Given the description of an element on the screen output the (x, y) to click on. 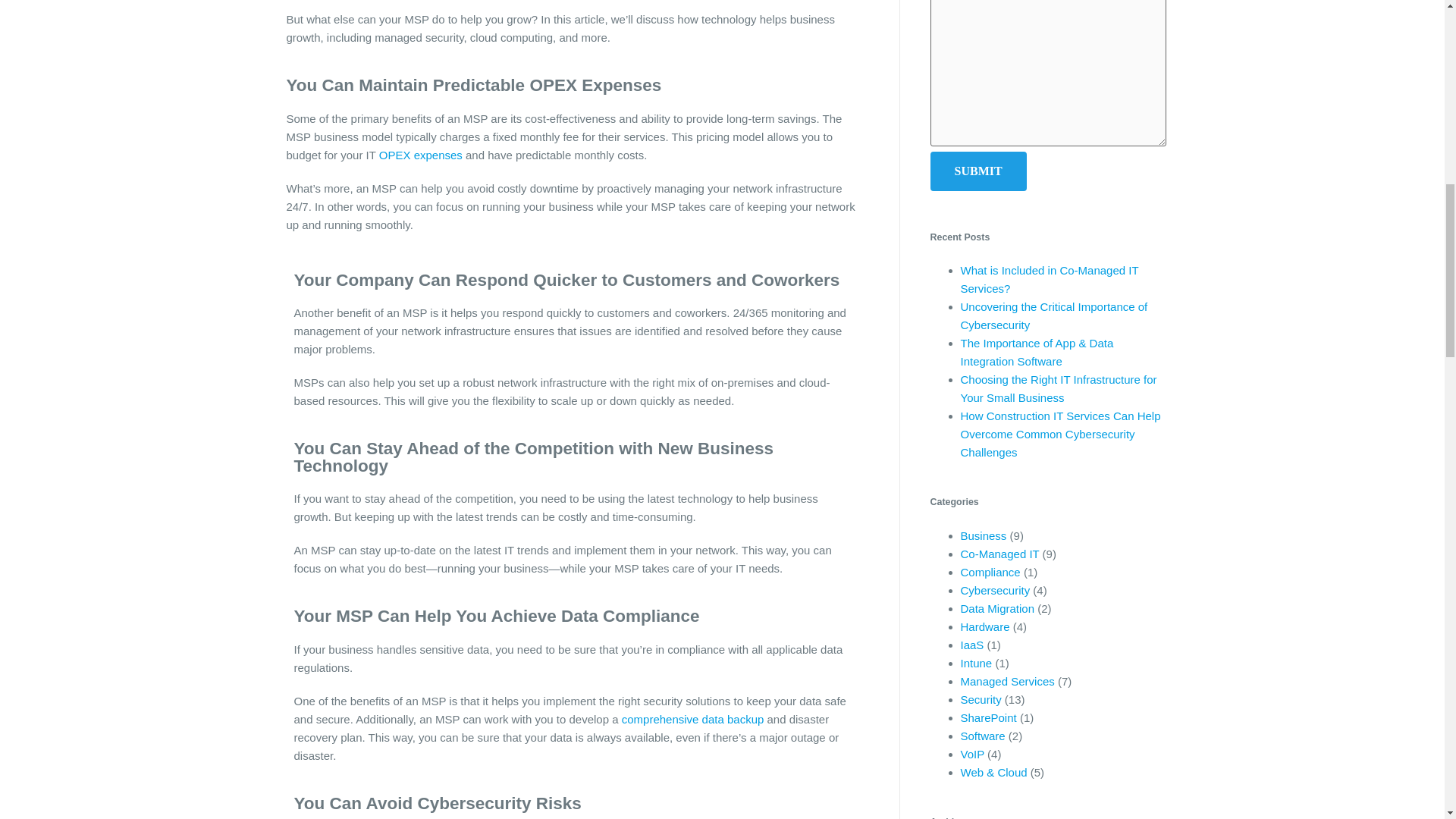
Submit (978, 170)
